Given the description of an element on the screen output the (x, y) to click on. 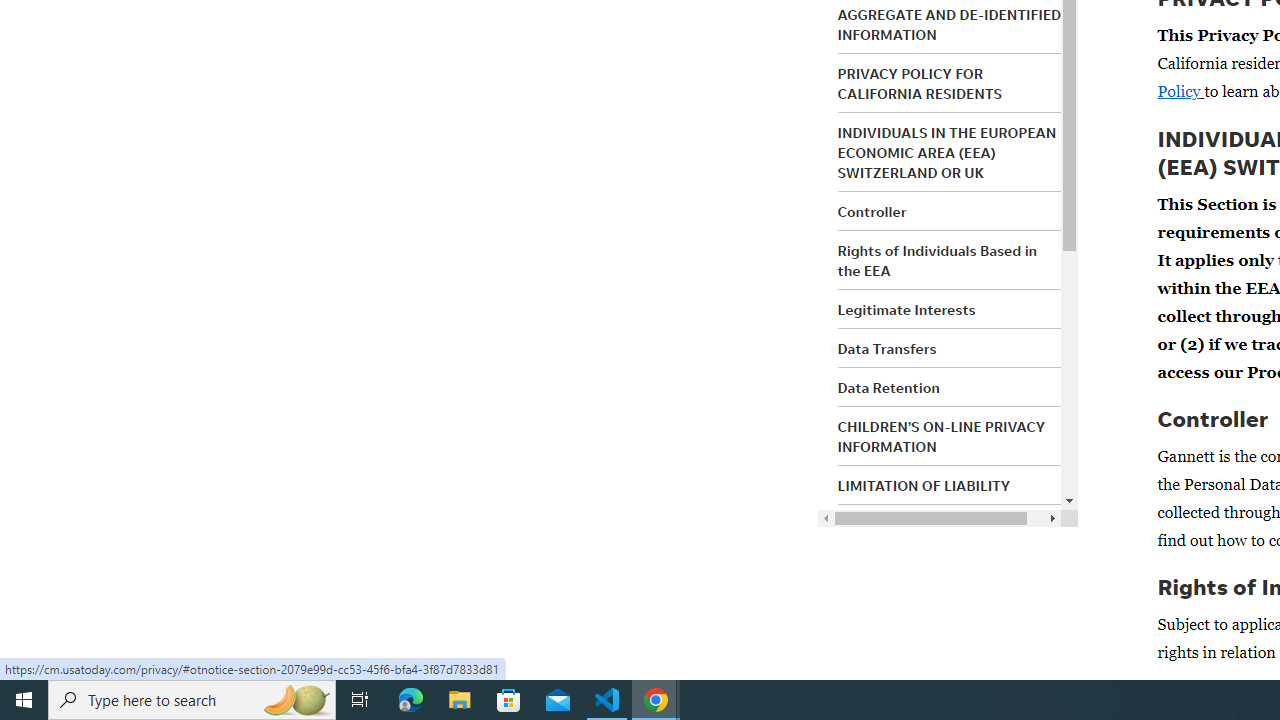
Rights of Individuals Based in the EEA (937, 260)
INDEMNIFICATION (900, 525)
Legitimate Interests (906, 309)
Data Retention (888, 387)
Data Transfers (886, 348)
Controller (872, 212)
LIMITATION OF LIABILITY (924, 485)
PRIVACY POLICY FOR CALIFORNIA RESIDENTS (919, 83)
AGGREGATE AND DE-IDENTIFIED INFORMATION (949, 24)
